Given the description of an element on the screen output the (x, y) to click on. 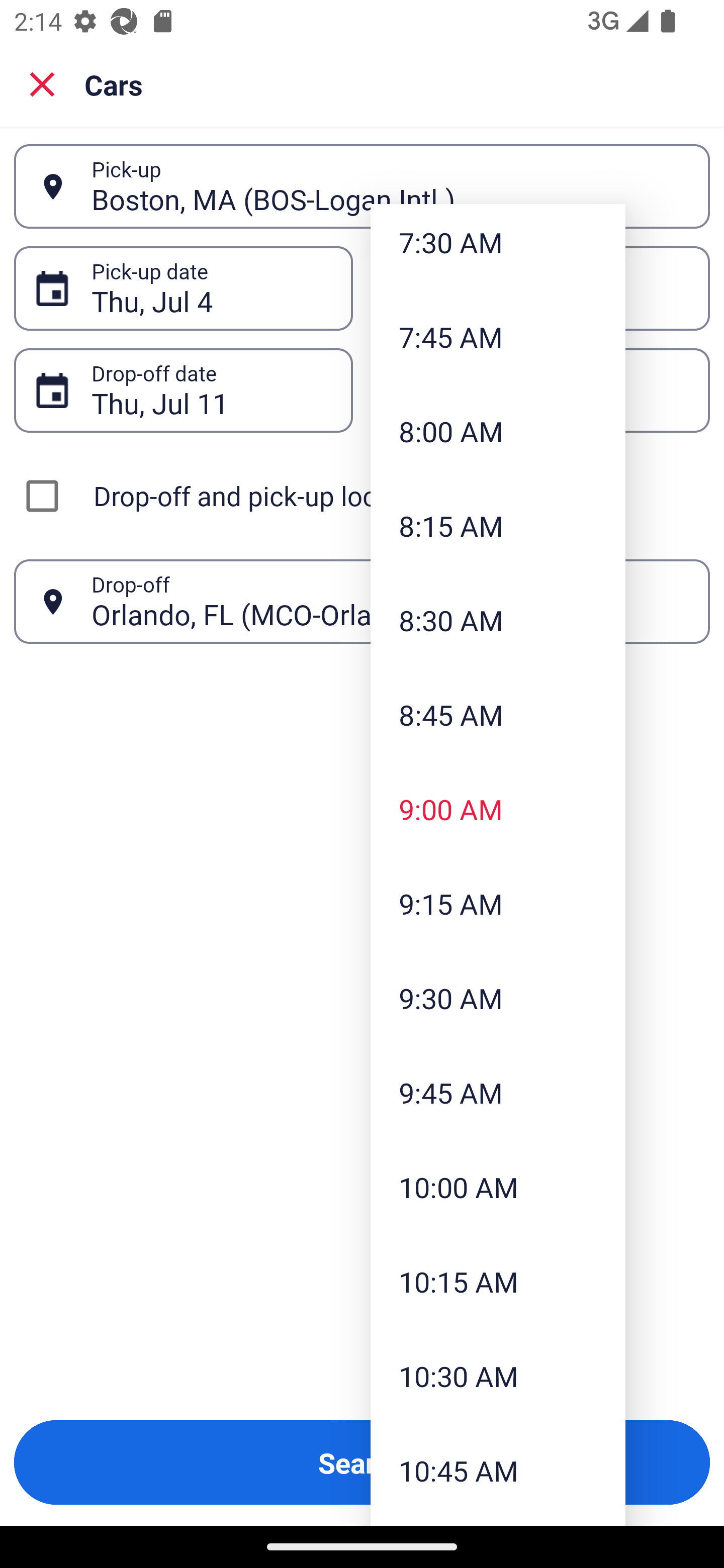
7:30 AM (497, 246)
7:45 AM (497, 337)
8:00 AM (497, 431)
8:15 AM (497, 525)
8:30 AM (497, 619)
8:45 AM (497, 714)
9:00 AM (497, 809)
9:15 AM (497, 903)
9:30 AM (497, 997)
9:45 AM (497, 1092)
10:00 AM (497, 1186)
10:15 AM (497, 1281)
10:30 AM (497, 1375)
10:45 AM (497, 1470)
